Given the description of an element on the screen output the (x, y) to click on. 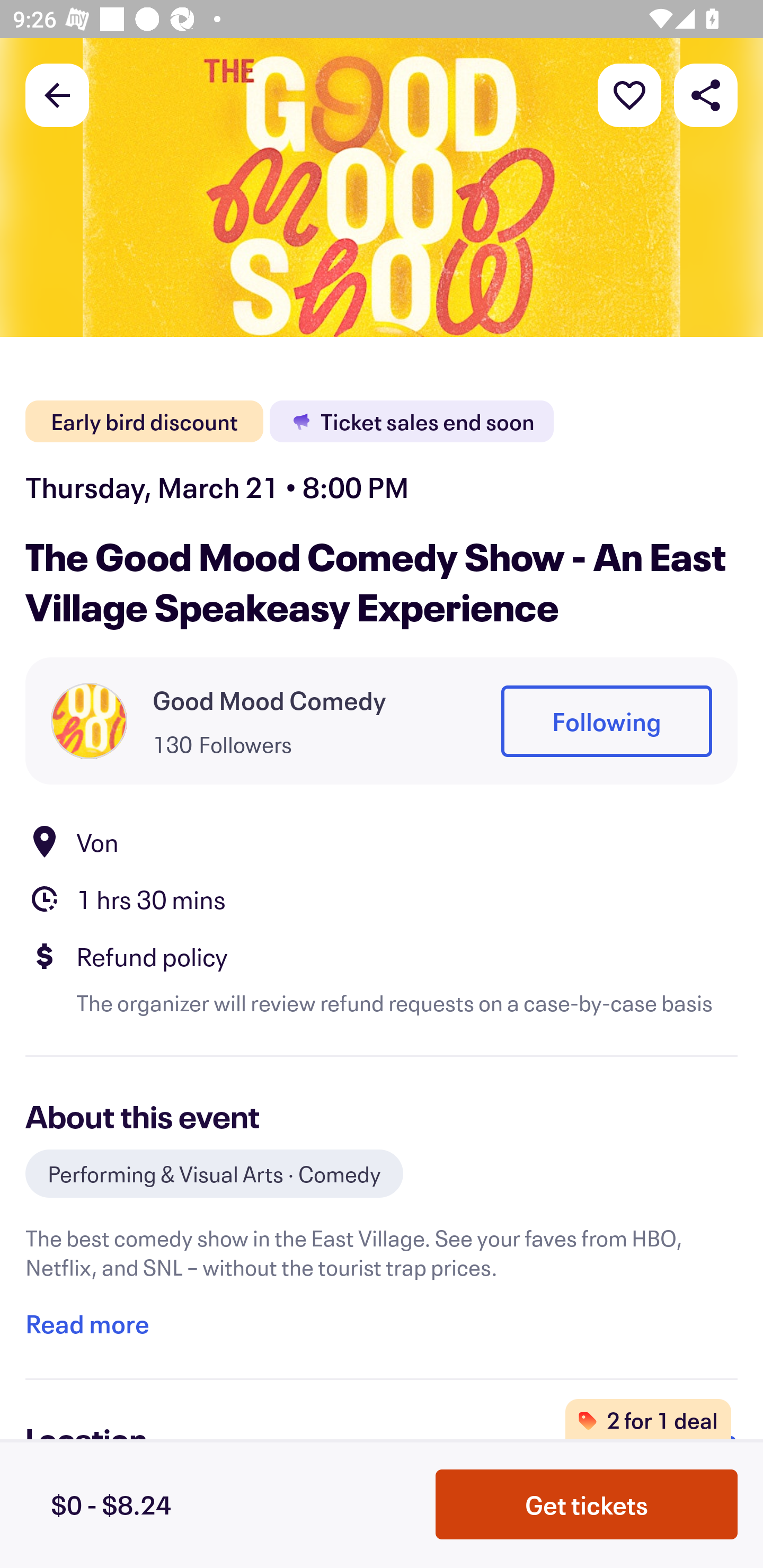
Back (57, 94)
More (629, 94)
Share (705, 94)
Early bird discount (144, 421)
Good Mood Comedy (269, 699)
Organizer profile picture (89, 720)
Following (606, 720)
Location Von (381, 840)
Read more (87, 1323)
Get tickets (586, 1504)
